Given the description of an element on the screen output the (x, y) to click on. 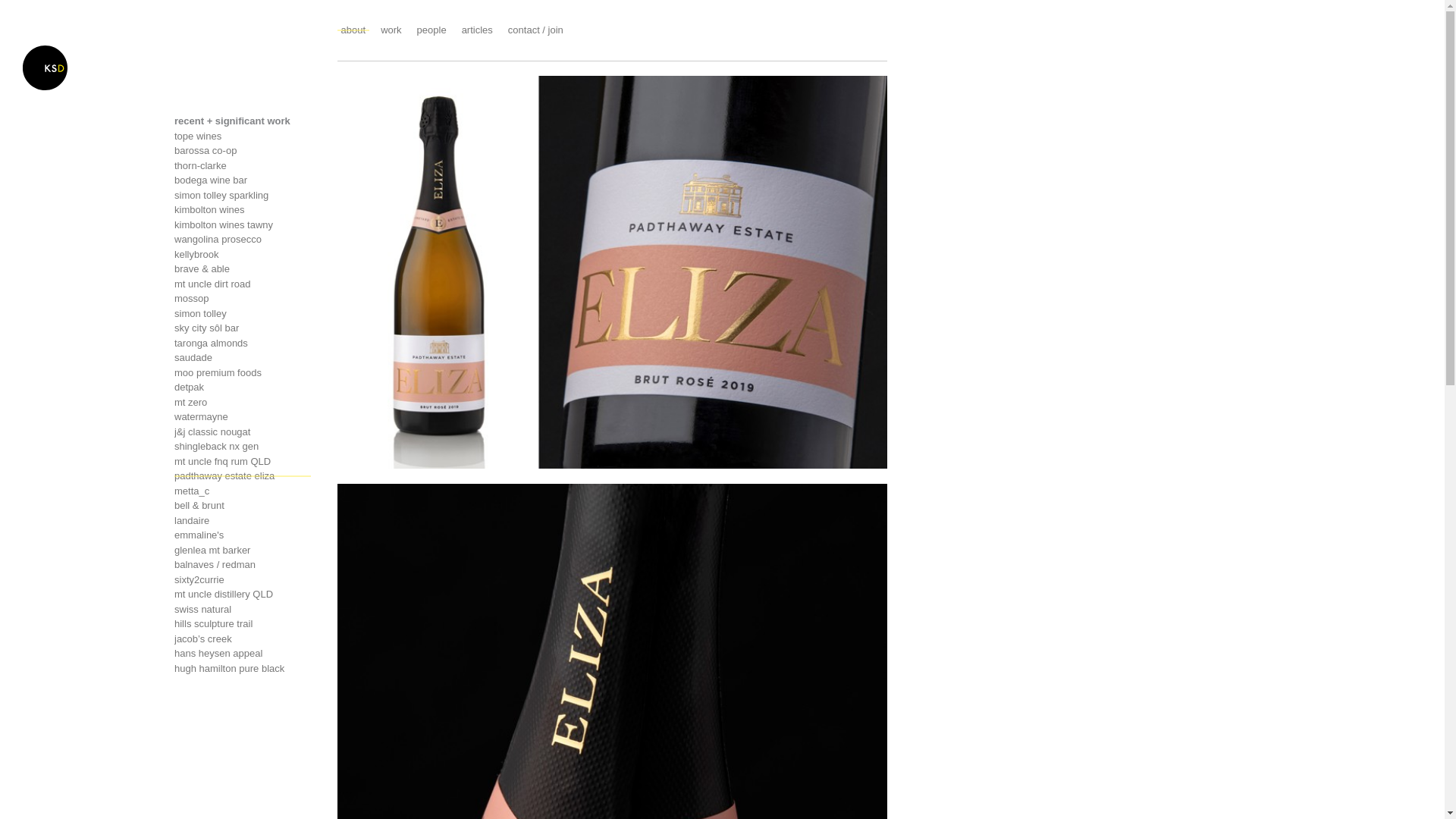
kimbolton wines tawny Element type: text (242, 224)
emmaline's Element type: text (242, 534)
simon tolley Element type: text (242, 313)
simon tolley sparkling Element type: text (242, 195)
padthaway estate eliza Element type: text (242, 475)
j&j classic nougat Element type: text (242, 431)
saudade Element type: text (242, 357)
hills sculpture trail Element type: text (242, 623)
watermayne Element type: text (242, 416)
articles Element type: text (476, 29)
detpak Element type: text (242, 387)
mt uncle fnq rum QLD Element type: text (242, 460)
kellybrook Element type: text (242, 254)
wangolina prosecco Element type: text (242, 239)
thorn-clarke Element type: text (242, 164)
landaire Element type: text (242, 519)
bodega wine bar Element type: text (242, 180)
barossa co-op Element type: text (242, 150)
contact / join Element type: text (535, 29)
people Element type: text (431, 29)
sixty2currie Element type: text (242, 578)
hans heysen appeal Element type: text (242, 653)
mt zero Element type: text (242, 401)
mt uncle distillery QLD Element type: text (242, 594)
kimbolton wines Element type: text (242, 209)
about Element type: text (353, 29)
tope wines Element type: text (242, 136)
bell & brunt Element type: text (242, 505)
moo premium foods Element type: text (242, 372)
taronga almonds Element type: text (242, 342)
shingleback nx gen Element type: text (242, 446)
balnaves / redman Element type: text (242, 564)
hugh hamilton pure black Element type: text (242, 668)
glenlea mt barker Element type: text (242, 550)
metta_c Element type: text (242, 490)
recent + significant work Element type: text (232, 120)
mossop Element type: text (242, 298)
work Element type: text (390, 29)
mt uncle dirt road Element type: text (242, 283)
brave & able Element type: text (242, 268)
swiss natural Element type: text (242, 609)
